Given the description of an element on the screen output the (x, y) to click on. 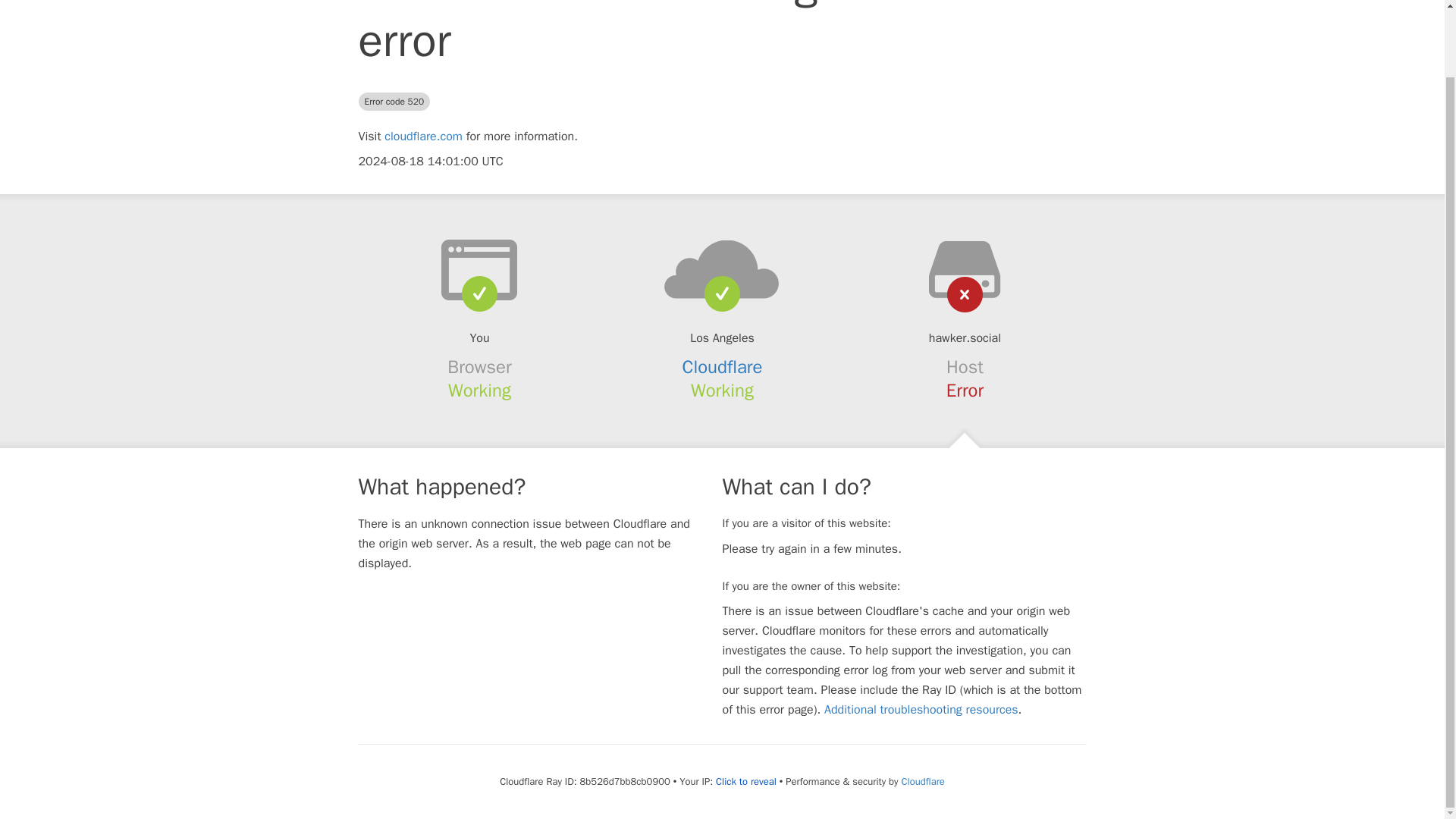
cloudflare.com (423, 136)
Additional troubleshooting resources (920, 709)
Cloudflare (722, 366)
Cloudflare (922, 780)
Click to reveal (746, 781)
